Given the description of an element on the screen output the (x, y) to click on. 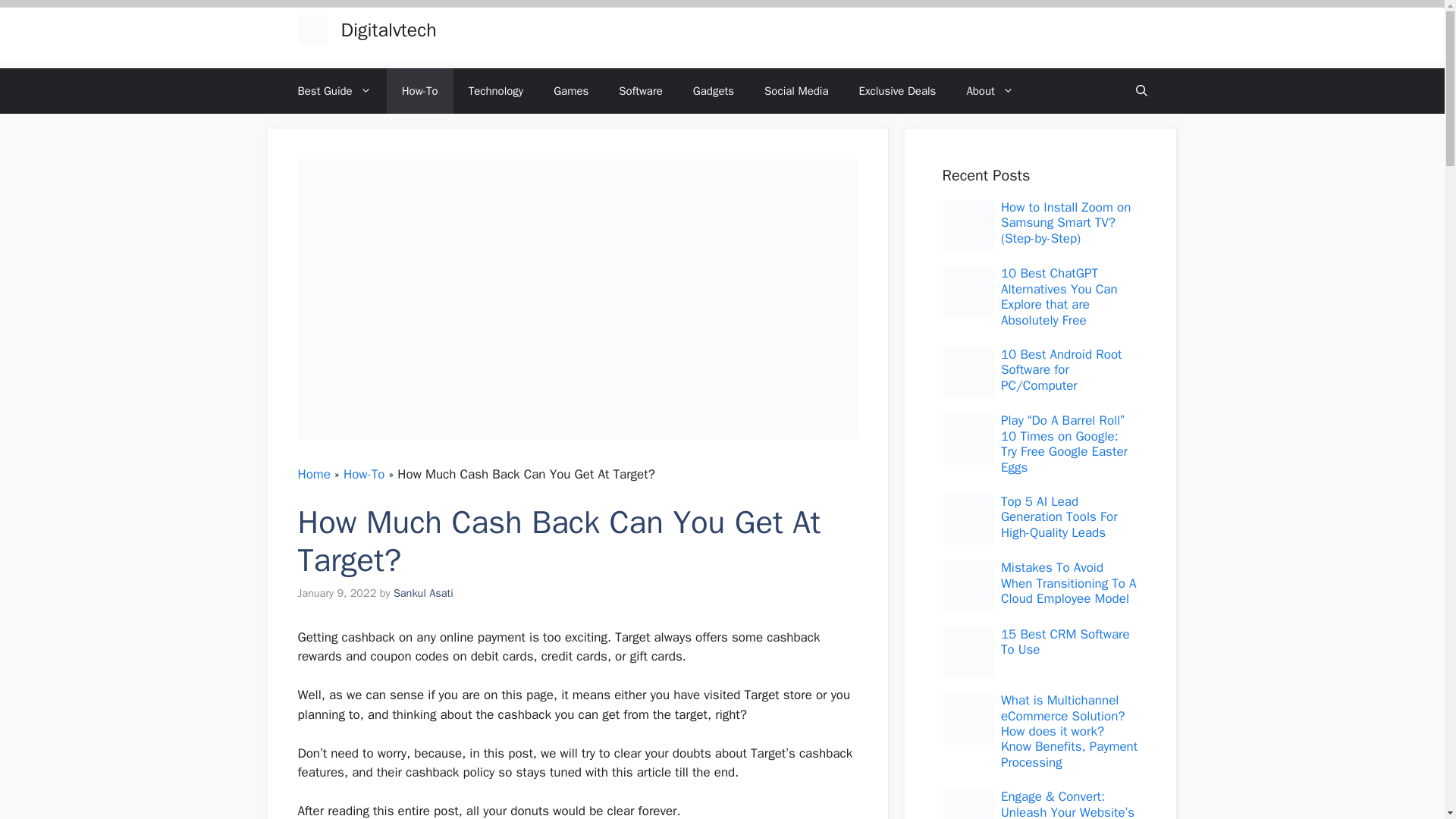
Digitalvtech (388, 29)
Home (313, 474)
Technology (495, 90)
Games (571, 90)
Software (641, 90)
How-To (419, 90)
Best Guide (333, 90)
View all posts by Sankul Asati (422, 592)
How-To (363, 474)
Gadgets (713, 90)
About (988, 90)
Social Media (796, 90)
Sankul Asati (422, 592)
Exclusive Deals (898, 90)
